Given the description of an element on the screen output the (x, y) to click on. 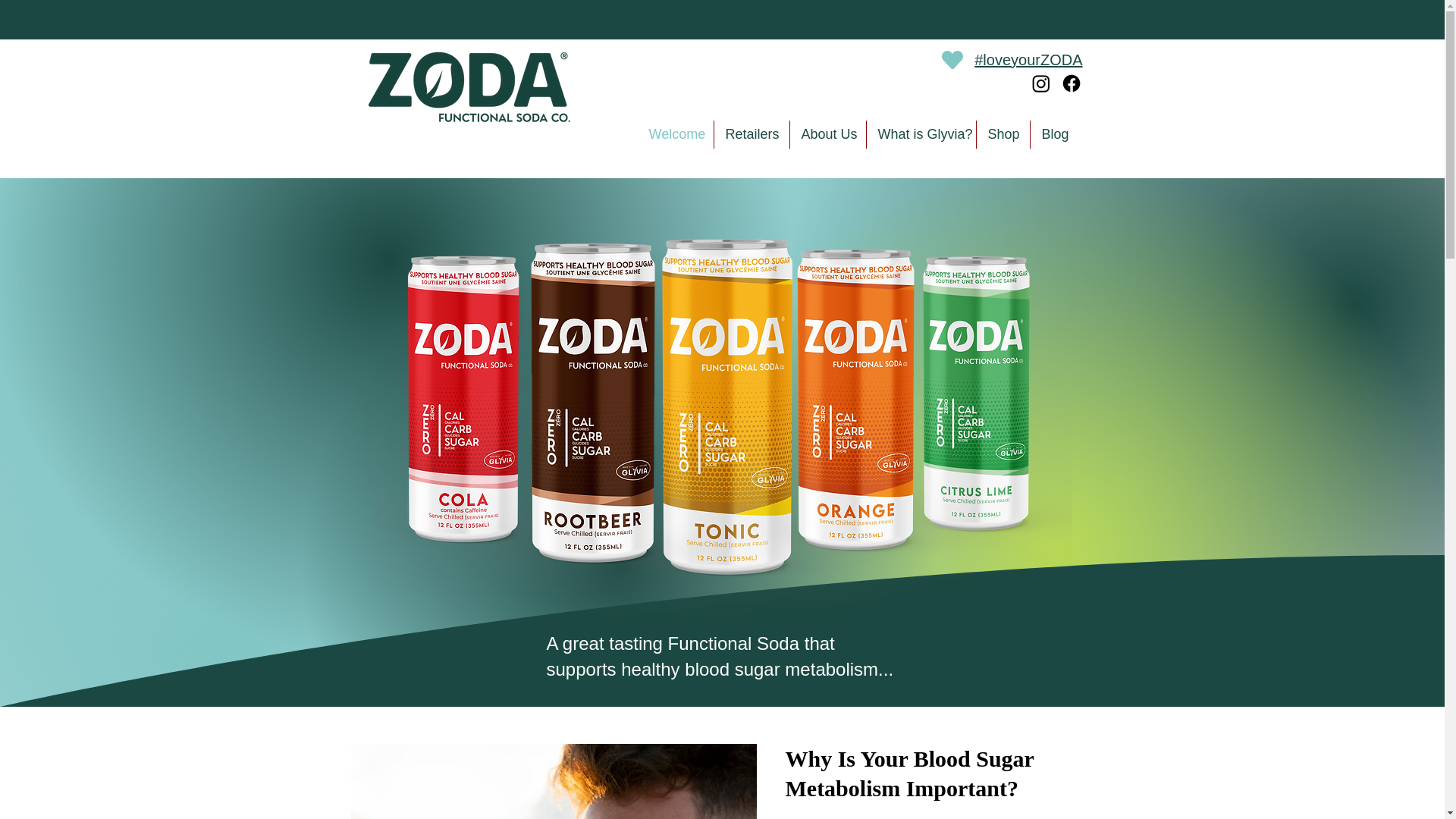
What is Glyvia? (920, 134)
Shop (1002, 134)
Welcome (675, 134)
About Us (828, 134)
Blog (1053, 134)
Retailers (751, 134)
